Given the description of an element on the screen output the (x, y) to click on. 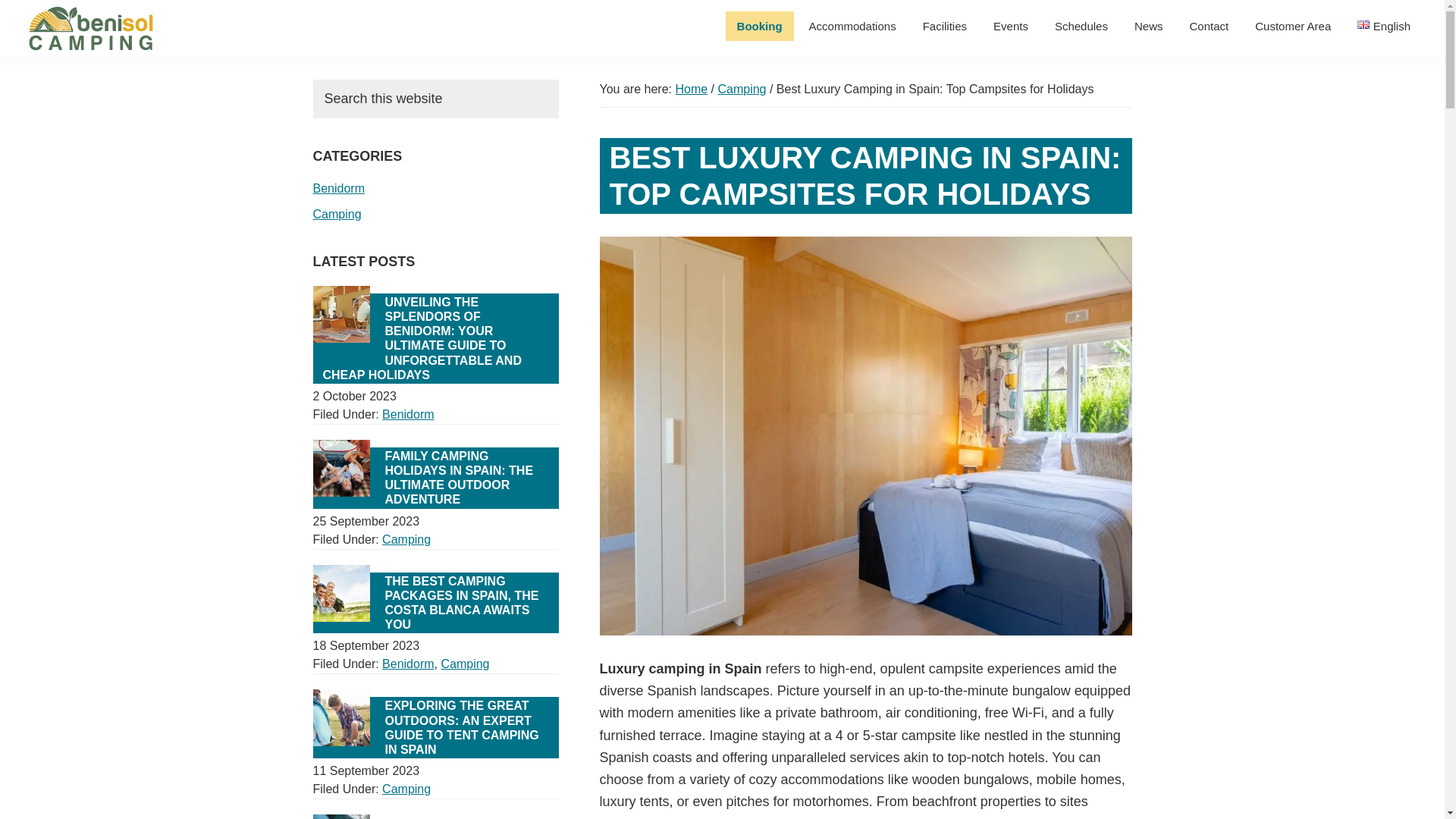
Home (691, 88)
Camping (741, 88)
Customer Area (1292, 25)
Benidorm (407, 413)
Contact (1208, 25)
Events (1010, 25)
Booking (759, 25)
News (1148, 25)
Camping (337, 214)
Benidorm (338, 187)
